Given the description of an element on the screen output the (x, y) to click on. 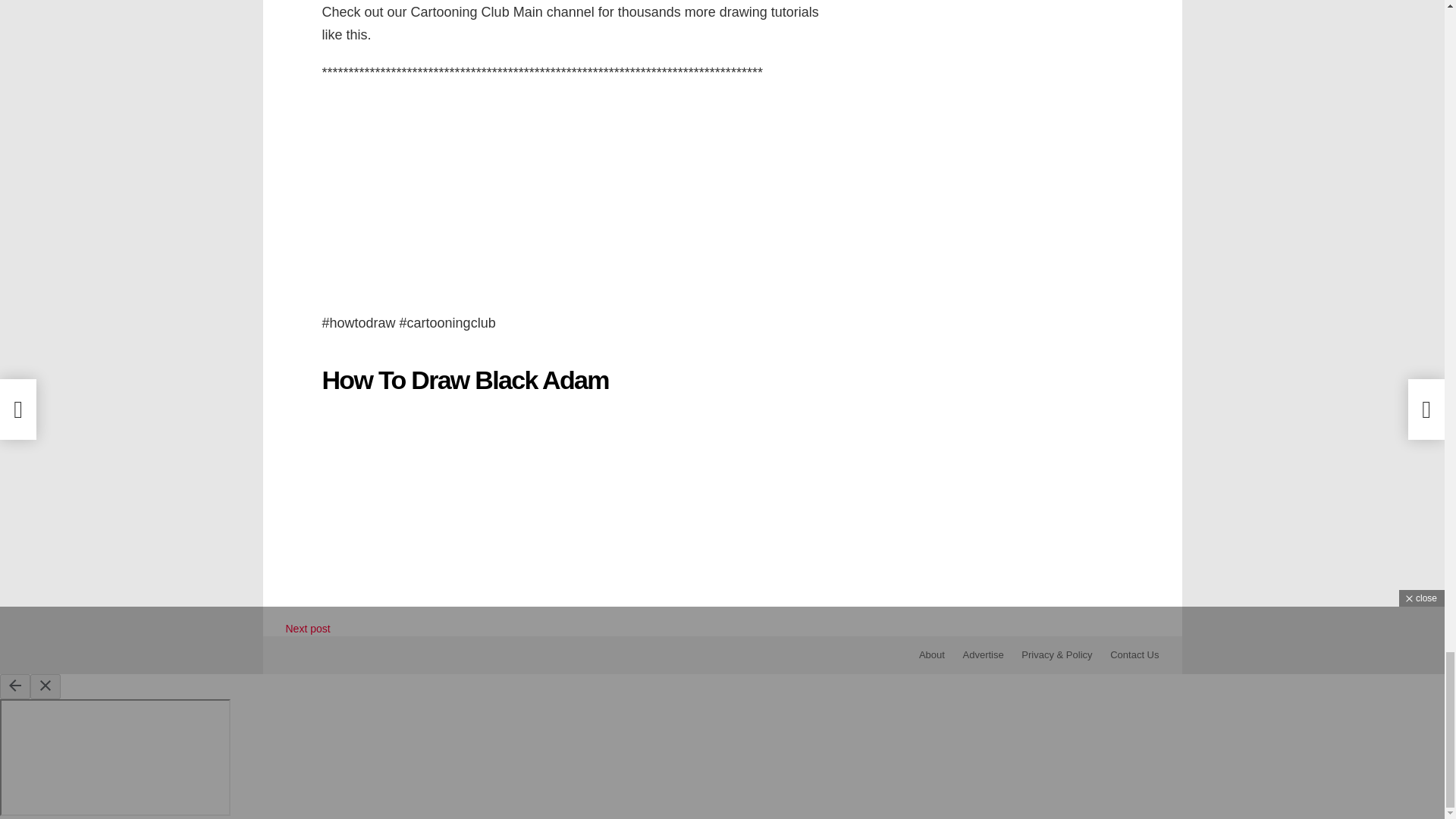
Next post (307, 628)
Contact Us (1134, 654)
About (931, 654)
Advertise (983, 654)
